Given the description of an element on the screen output the (x, y) to click on. 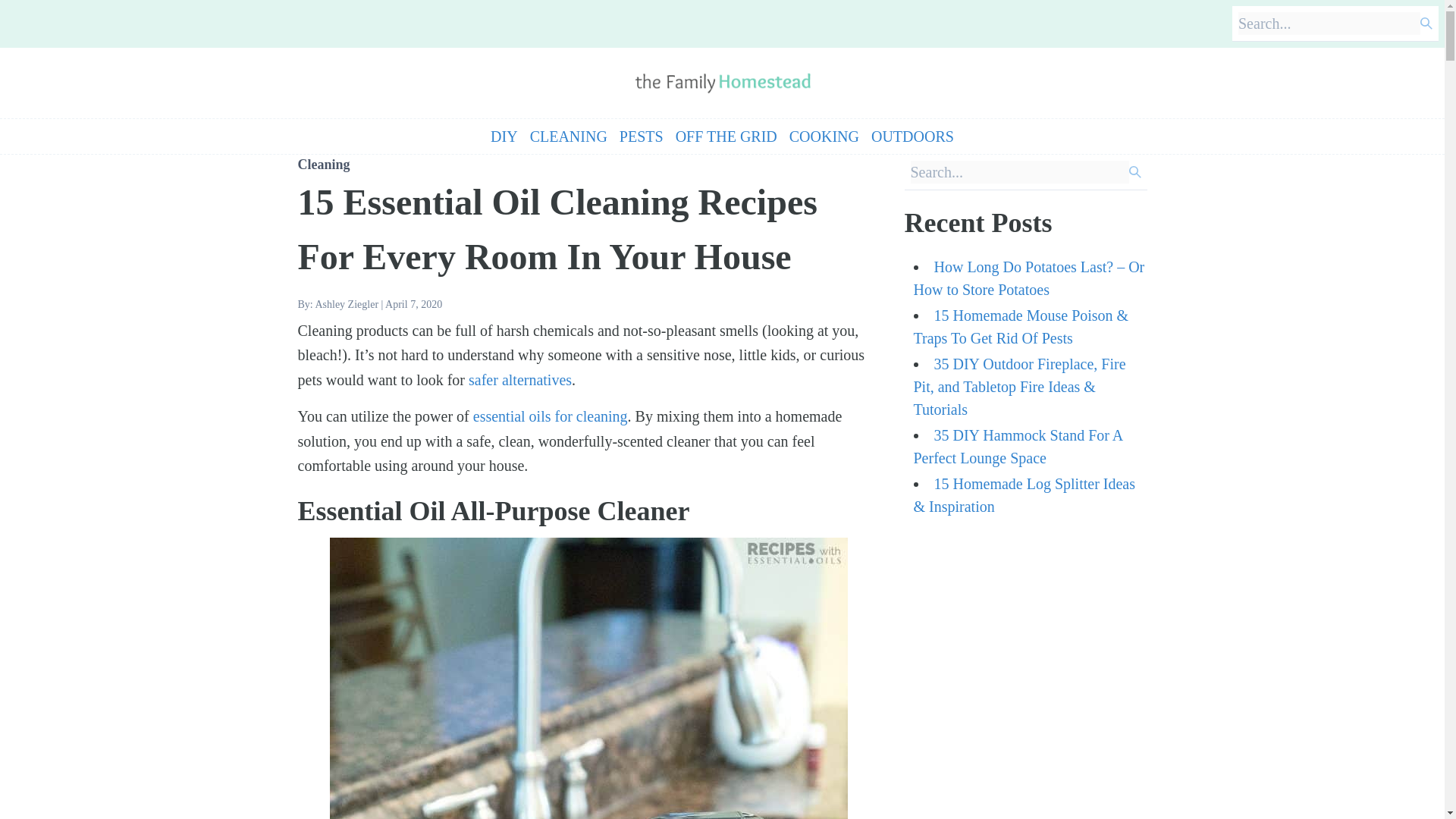
OUTDOORS (911, 135)
CLEANING (568, 135)
essential oils for cleaning (550, 416)
Search: (1019, 171)
OFF THE GRID (726, 135)
Cleaning (323, 164)
Search: (1330, 23)
PESTS (641, 135)
safer alternatives (520, 379)
COOKING (824, 135)
Ashley Ziegler (345, 304)
DIY (504, 135)
